Given the description of an element on the screen output the (x, y) to click on. 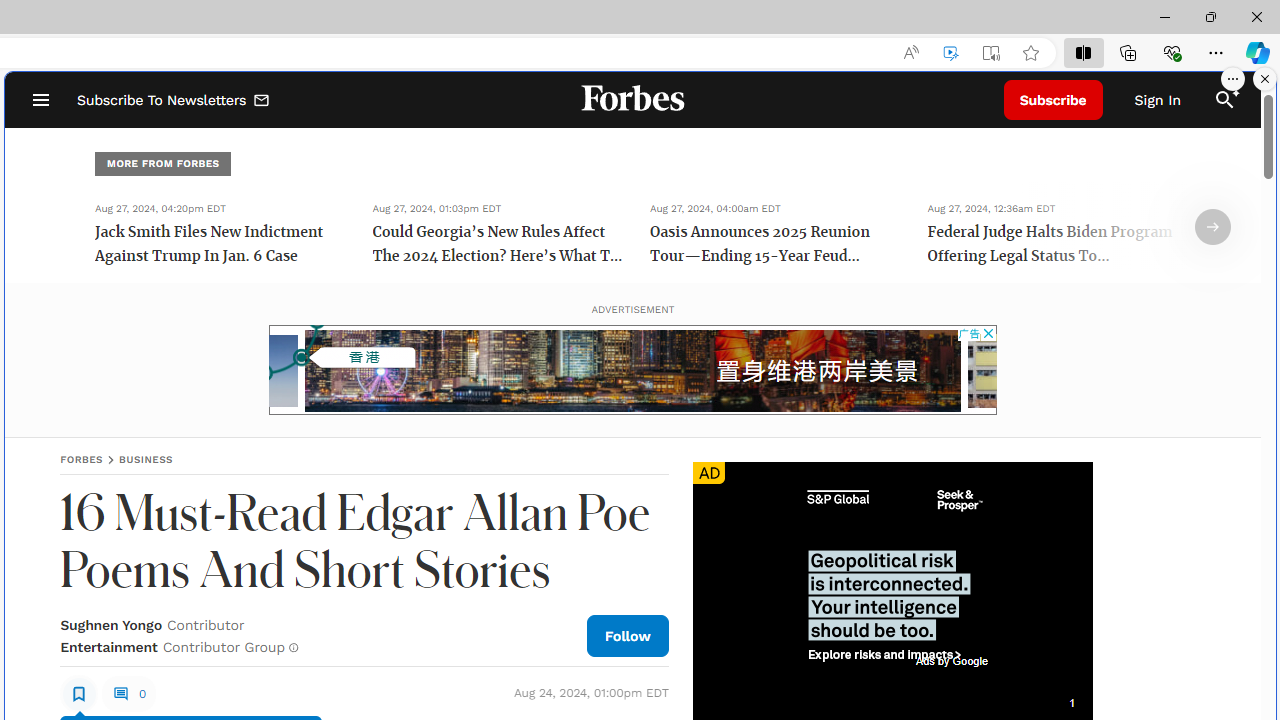
Class: fs-icon fs-icon--arrow-right (1212, 227)
Subscribe (1053, 99)
BUSINESS (145, 459)
FORBES (81, 459)
Class: sparkles_svg__fs-icon sparkles_svg__fs-icon--sparkles (1233, 91)
Skip Ad (1040, 699)
Enhance video (950, 53)
Forbes Logo (632, 99)
